Given the description of an element on the screen output the (x, y) to click on. 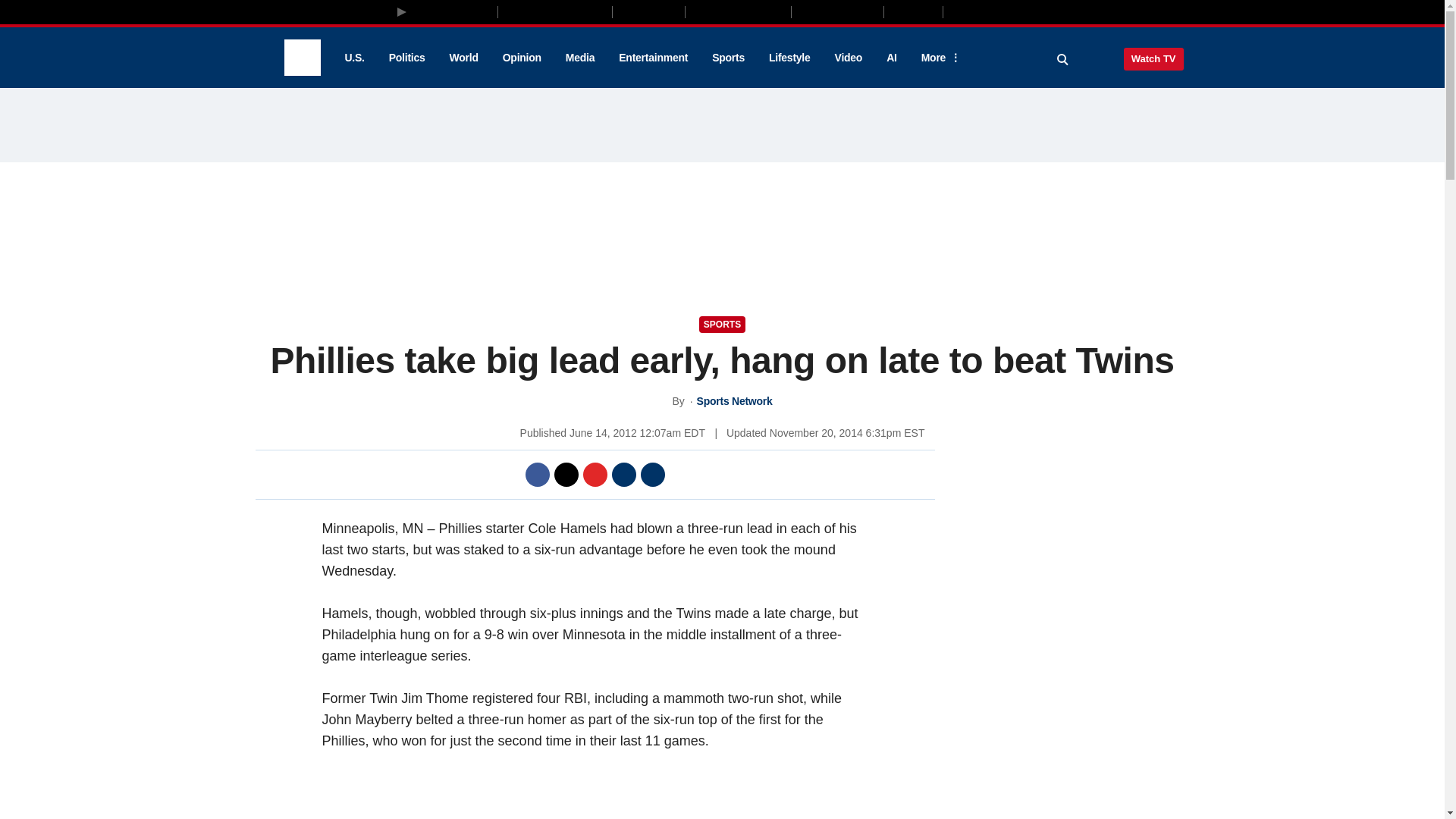
Media (580, 57)
Video (848, 57)
Fox News Audio (737, 11)
Fox Weather (836, 11)
Sports (728, 57)
World (464, 57)
More (938, 57)
Fox Nation (648, 11)
Outkick (912, 11)
Books (1007, 11)
